Given the description of an element on the screen output the (x, y) to click on. 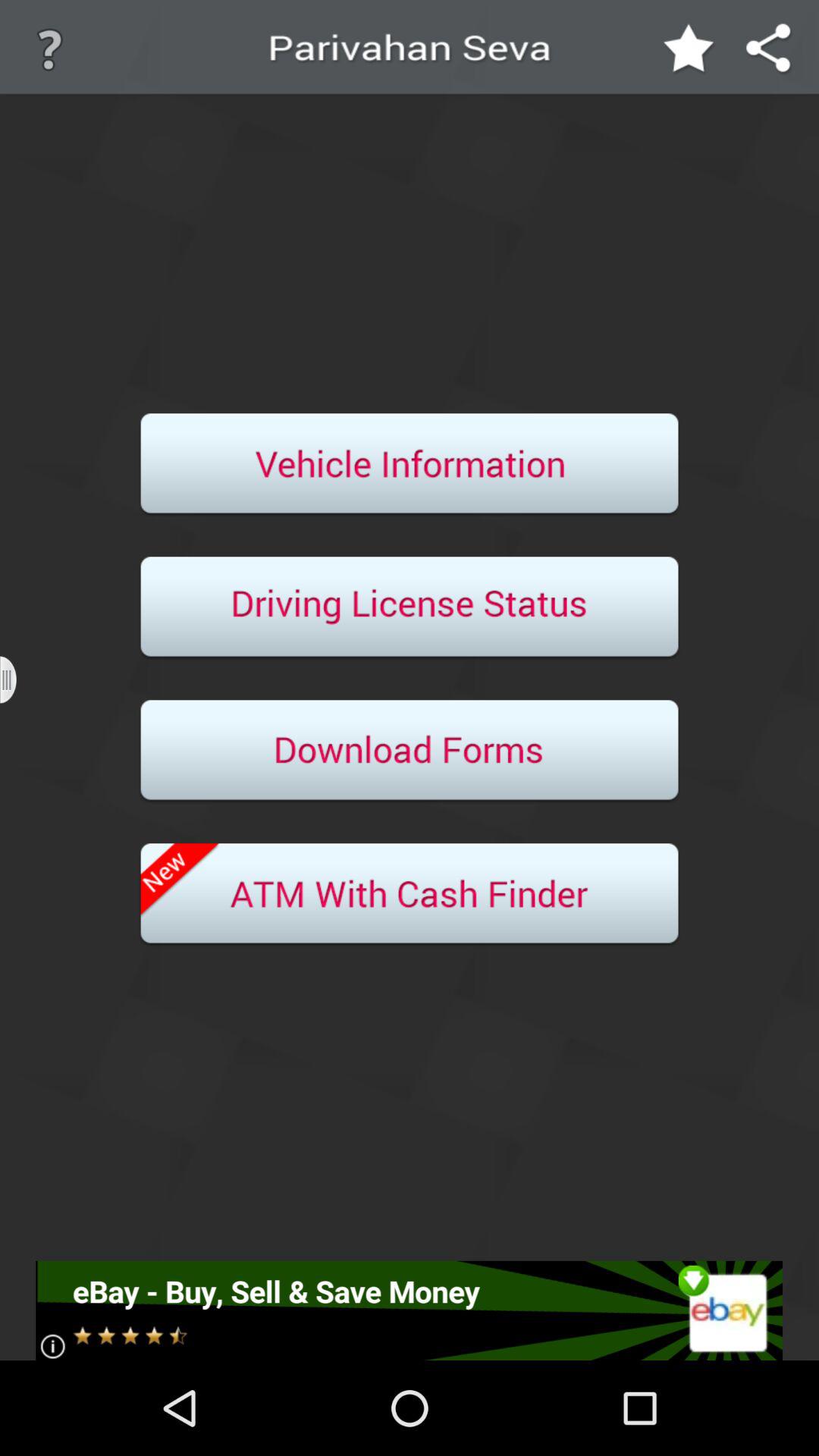
share the app (769, 49)
